Given the description of an element on the screen output the (x, y) to click on. 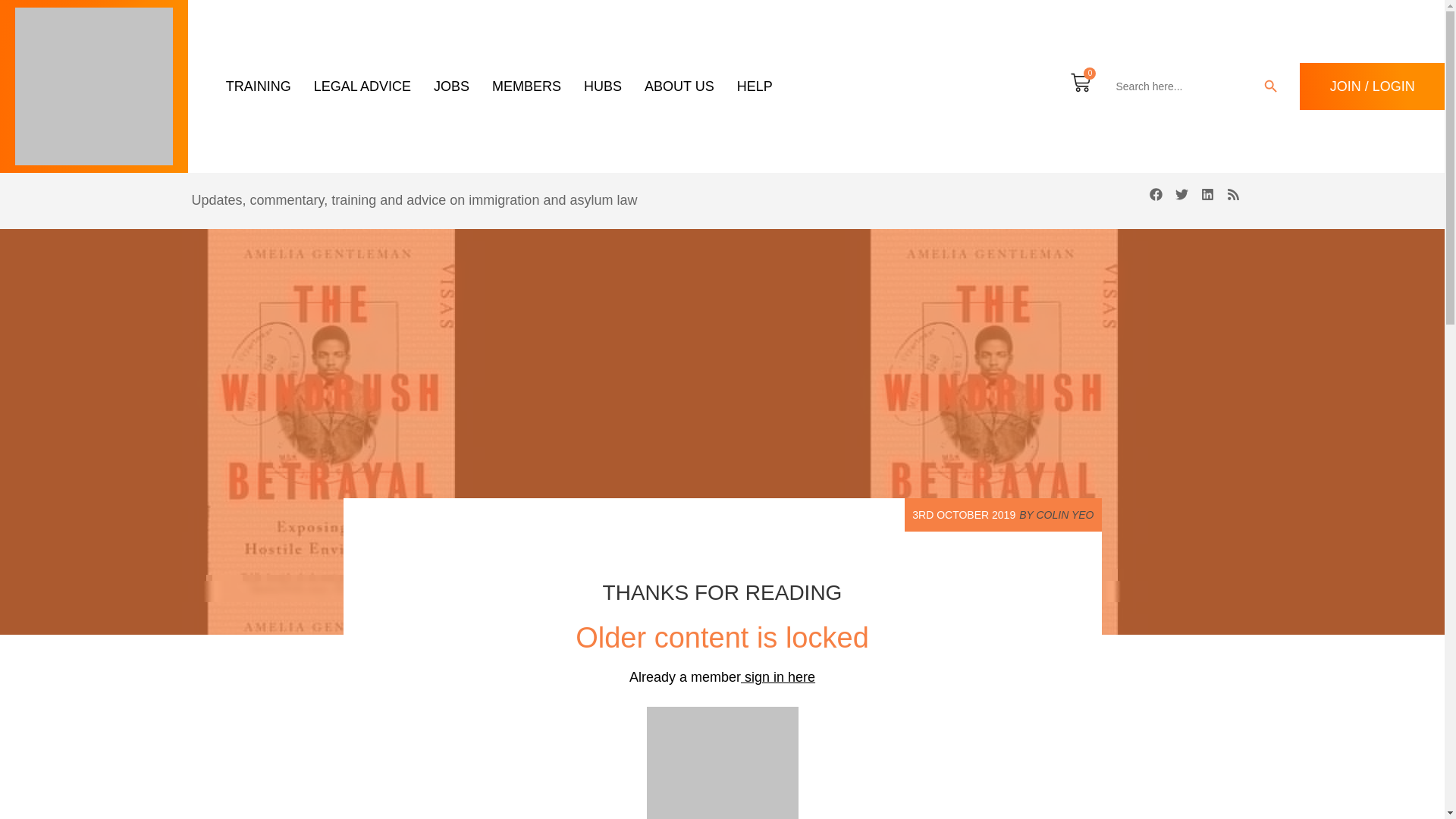
TRAINING (258, 85)
JOBS (450, 85)
HELP (754, 85)
ABOUT US (679, 85)
LEGAL ADVICE (362, 85)
HUBS (602, 85)
MEMBERS (526, 85)
